Given the description of an element on the screen output the (x, y) to click on. 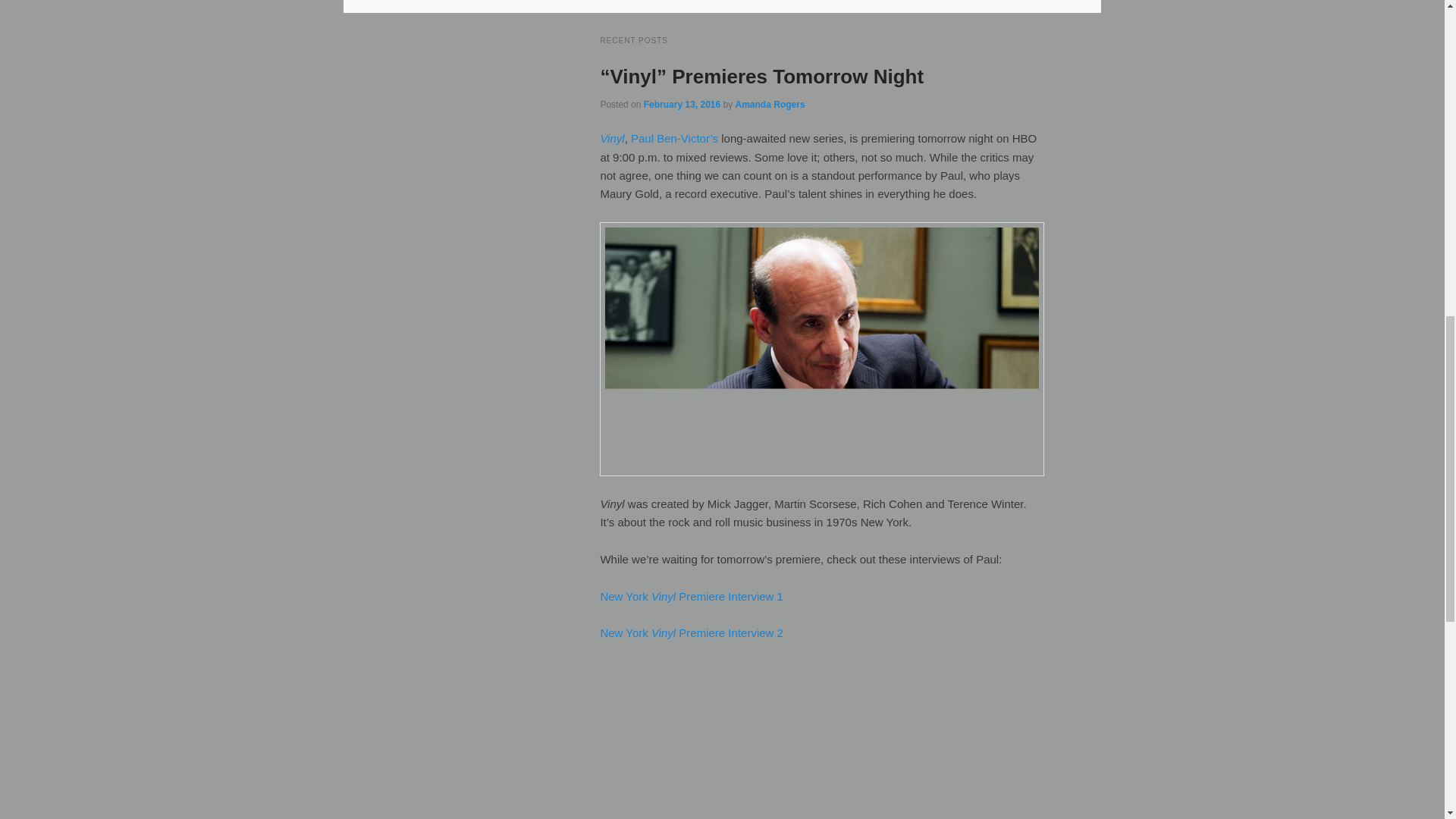
Amanda Rogers (770, 104)
New York Vinyl Premiere Interview 2 (691, 632)
View all posts by Amanda Rogers (770, 104)
February 13, 2016 (681, 104)
New York Vinyl Premiere Interview 1 (691, 595)
5:23 pm (681, 104)
Vinyl (611, 137)
